Given the description of an element on the screen output the (x, y) to click on. 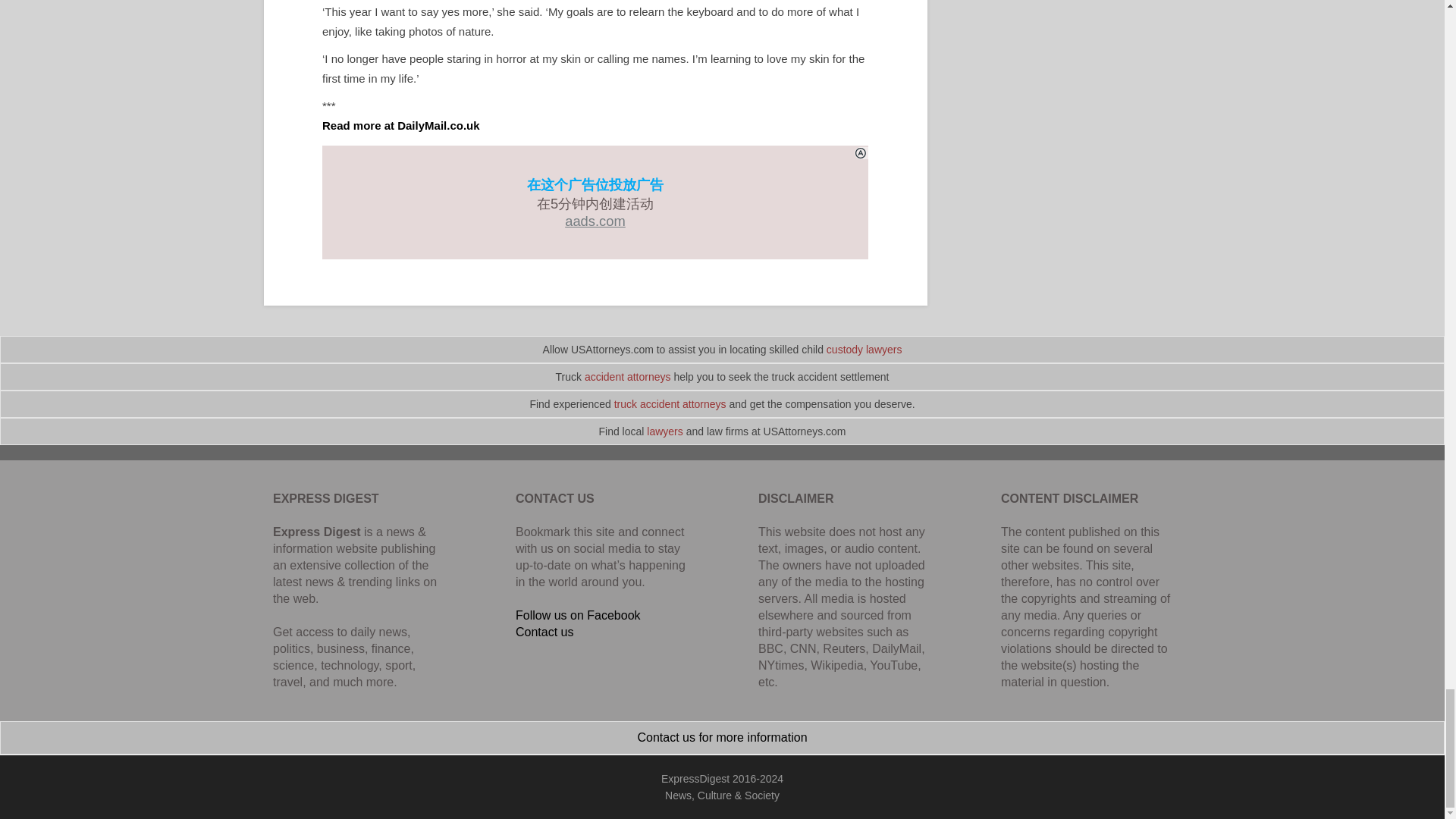
lawyers (664, 431)
truck accident attorneys (670, 404)
Read more at DailyMail.co.uk (400, 124)
custody lawyers (864, 349)
accident attorneys (628, 377)
